Given the description of an element on the screen output the (x, y) to click on. 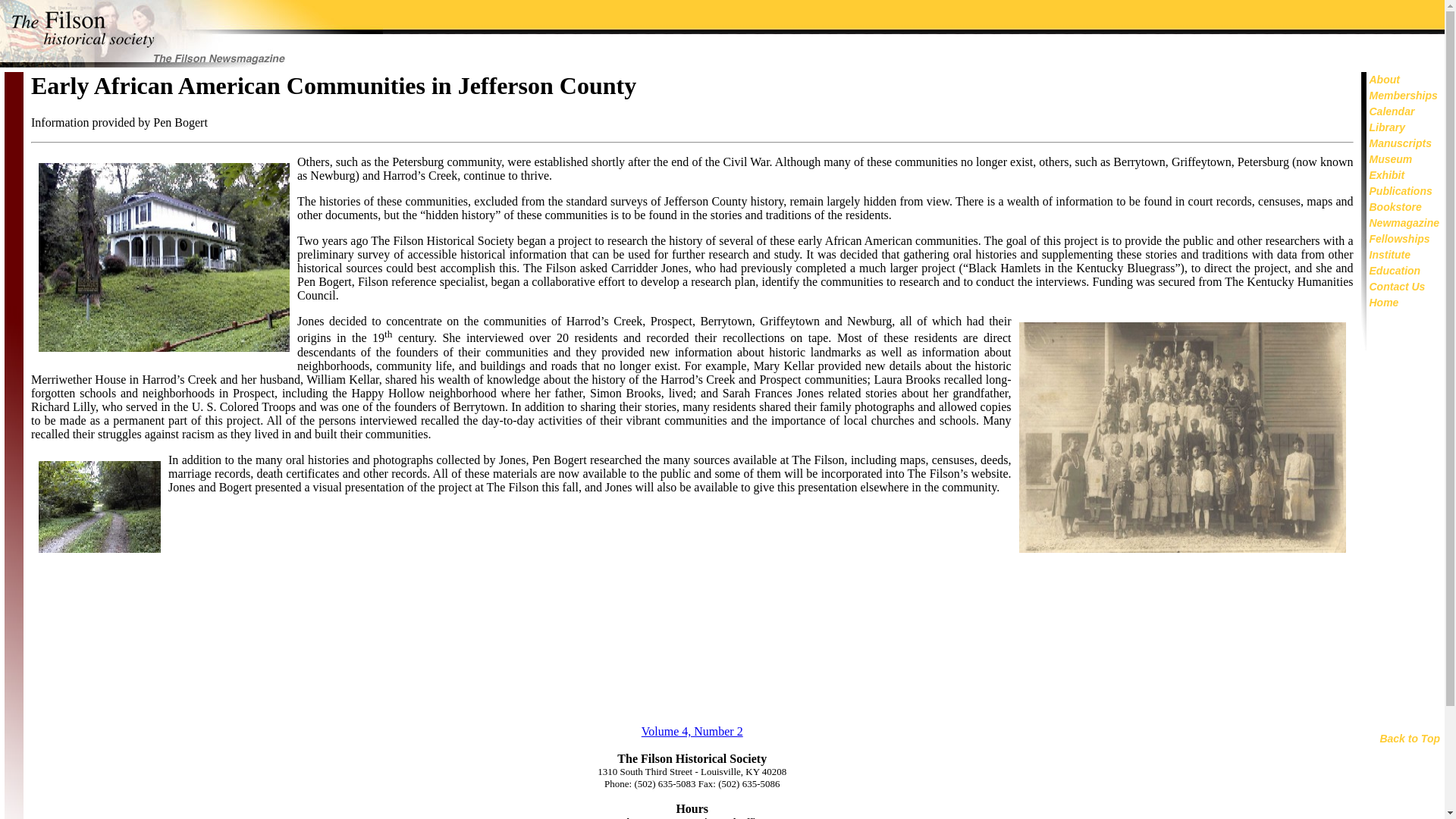
Publications (1401, 191)
Contact Us (1397, 286)
Bookstore (1396, 206)
Museum (1391, 159)
Calendar (1392, 111)
Manuscripts (1400, 143)
Memberships (1404, 95)
Back to Top (1408, 738)
Institute (1390, 254)
Exhibit (1387, 174)
